Given the description of an element on the screen output the (x, y) to click on. 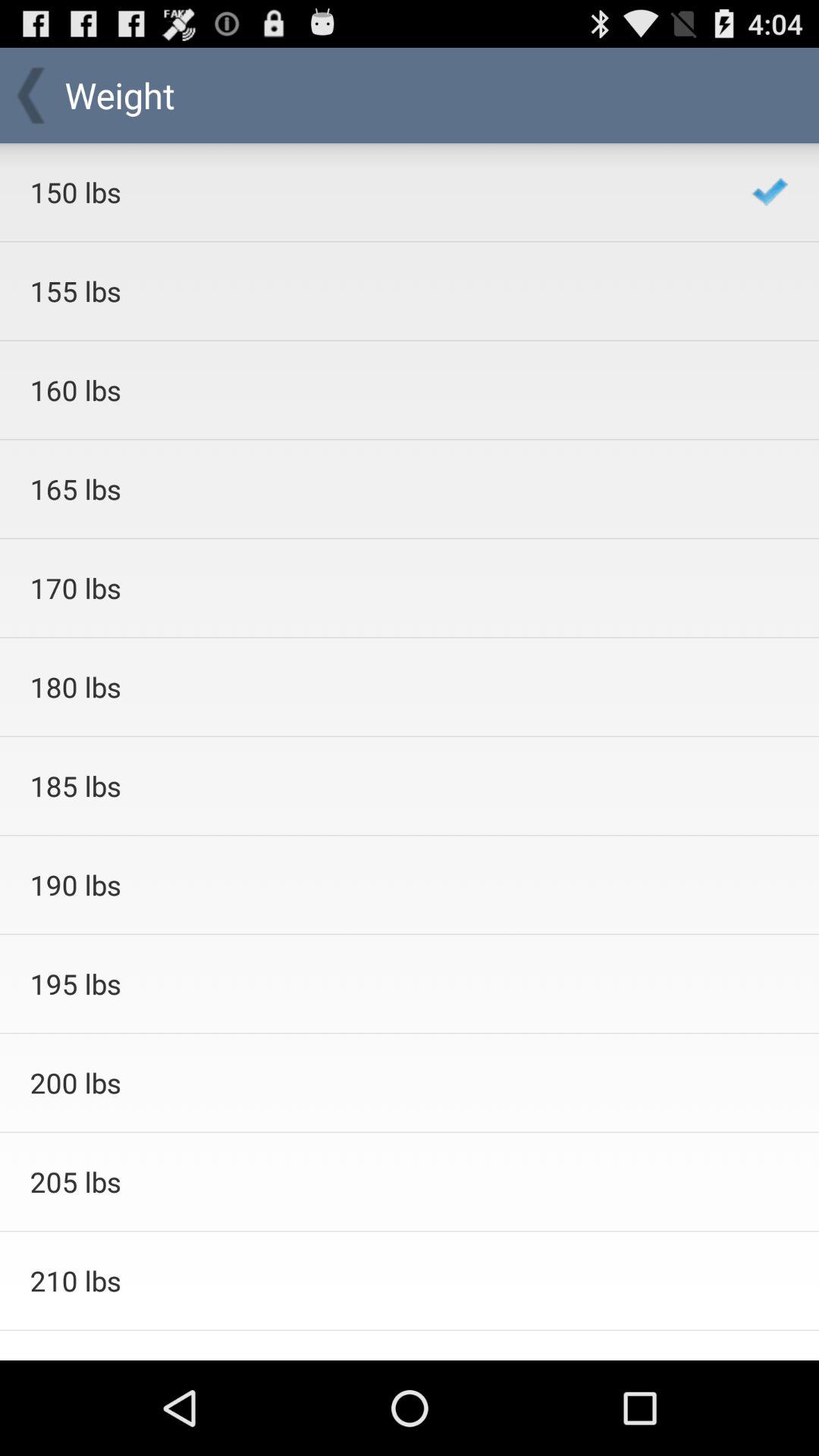
launch the 165 lbs icon (371, 488)
